Given the description of an element on the screen output the (x, y) to click on. 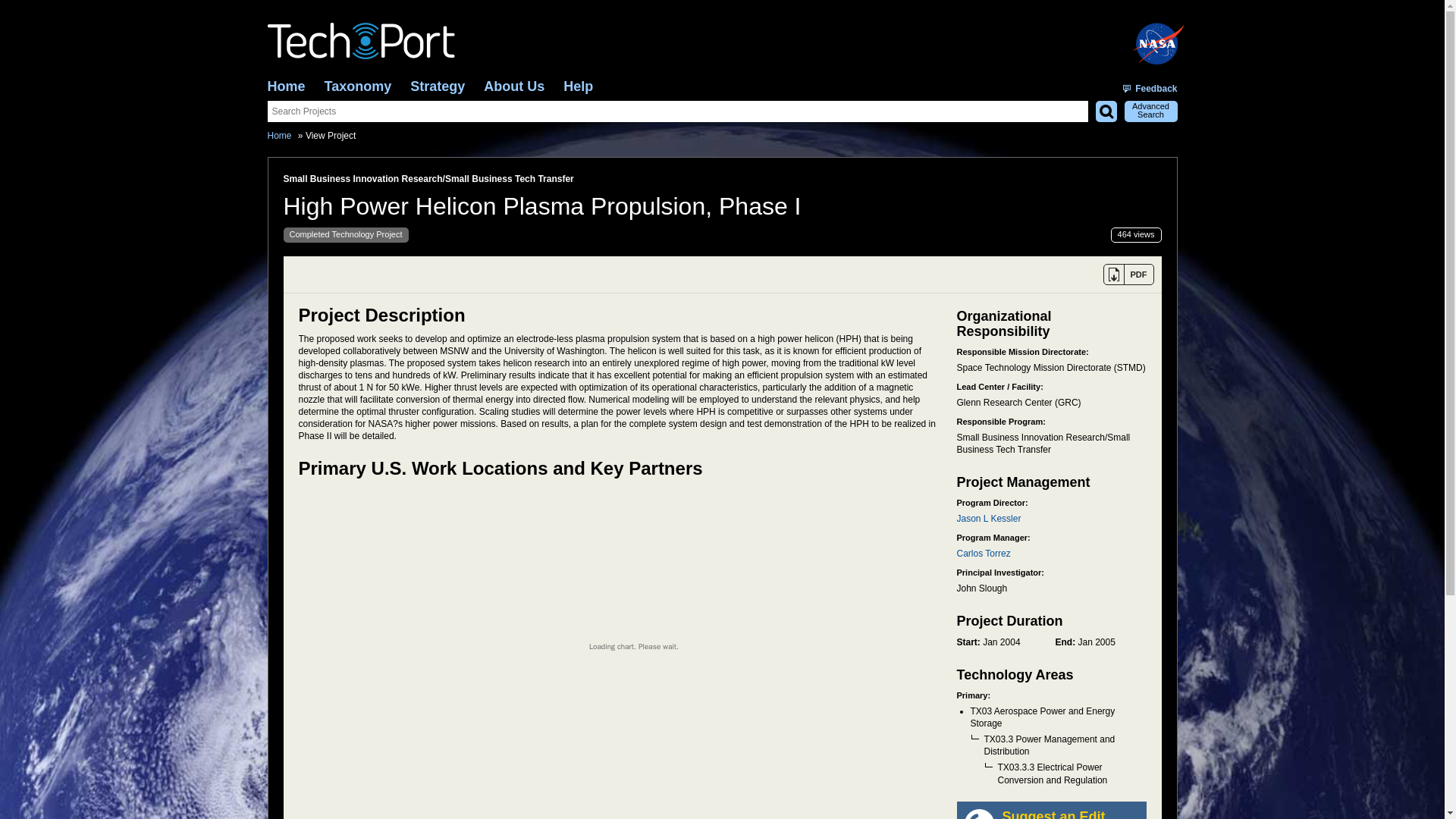
Advanced Search (1150, 111)
PDF (1127, 274)
Browse the NASA Strategic Framework (437, 86)
Jason L Kessler (989, 518)
About Us (513, 86)
Home (278, 135)
Home (285, 86)
Taxonomy (357, 86)
Search (1105, 111)
Home (285, 86)
Help (577, 86)
Carlos Torrez (983, 552)
Browse the NASA Technology Taxonomy (357, 86)
